Given the description of an element on the screen output the (x, y) to click on. 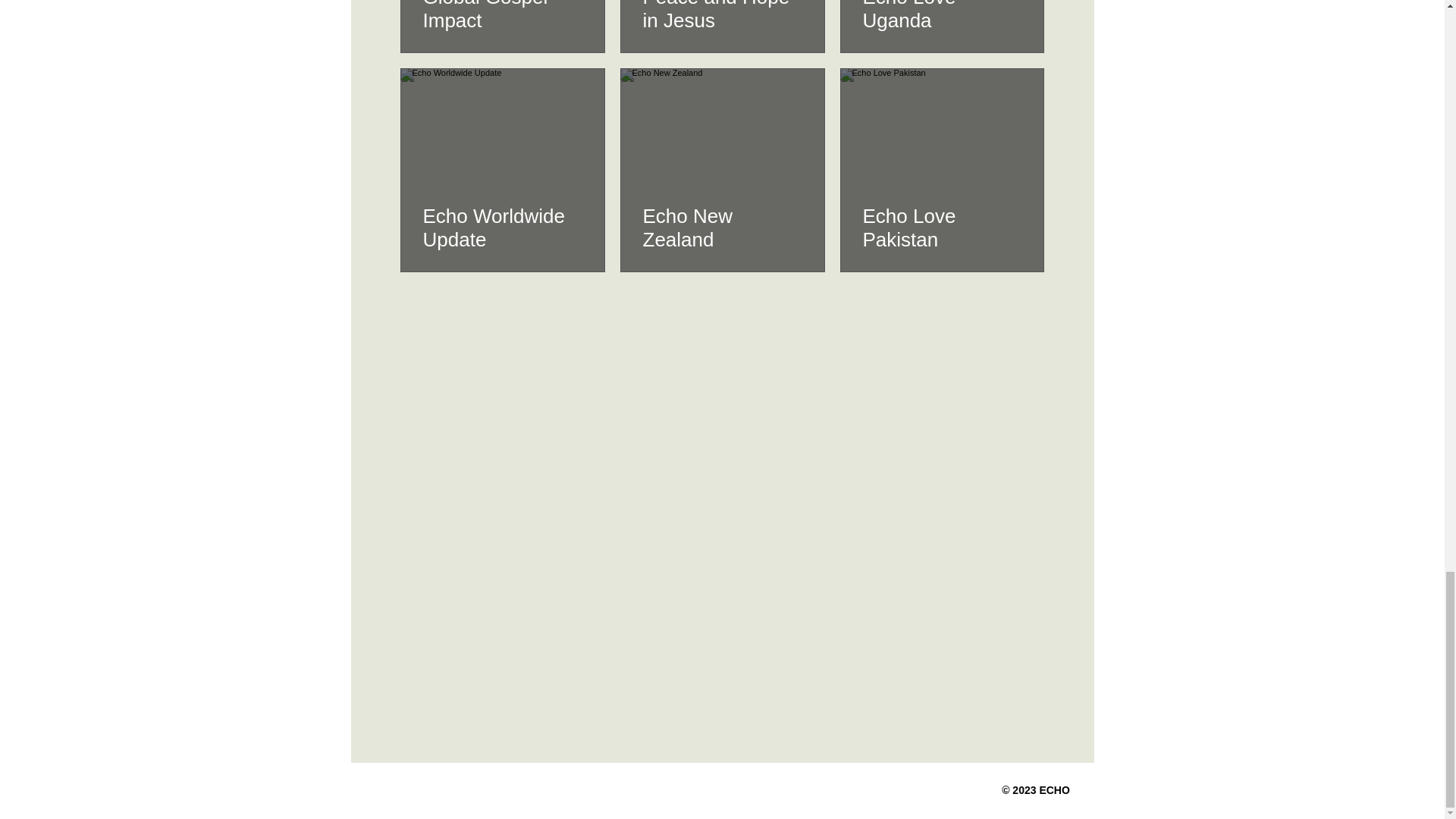
Peace and Hope in Jesus (722, 16)
Echo Love Uganda (942, 16)
Global Gospel Impact (502, 16)
Echo New Zealand (722, 227)
Echo Worldwide Update (502, 227)
Echo Love Pakistan (942, 227)
